Given the description of an element on the screen output the (x, y) to click on. 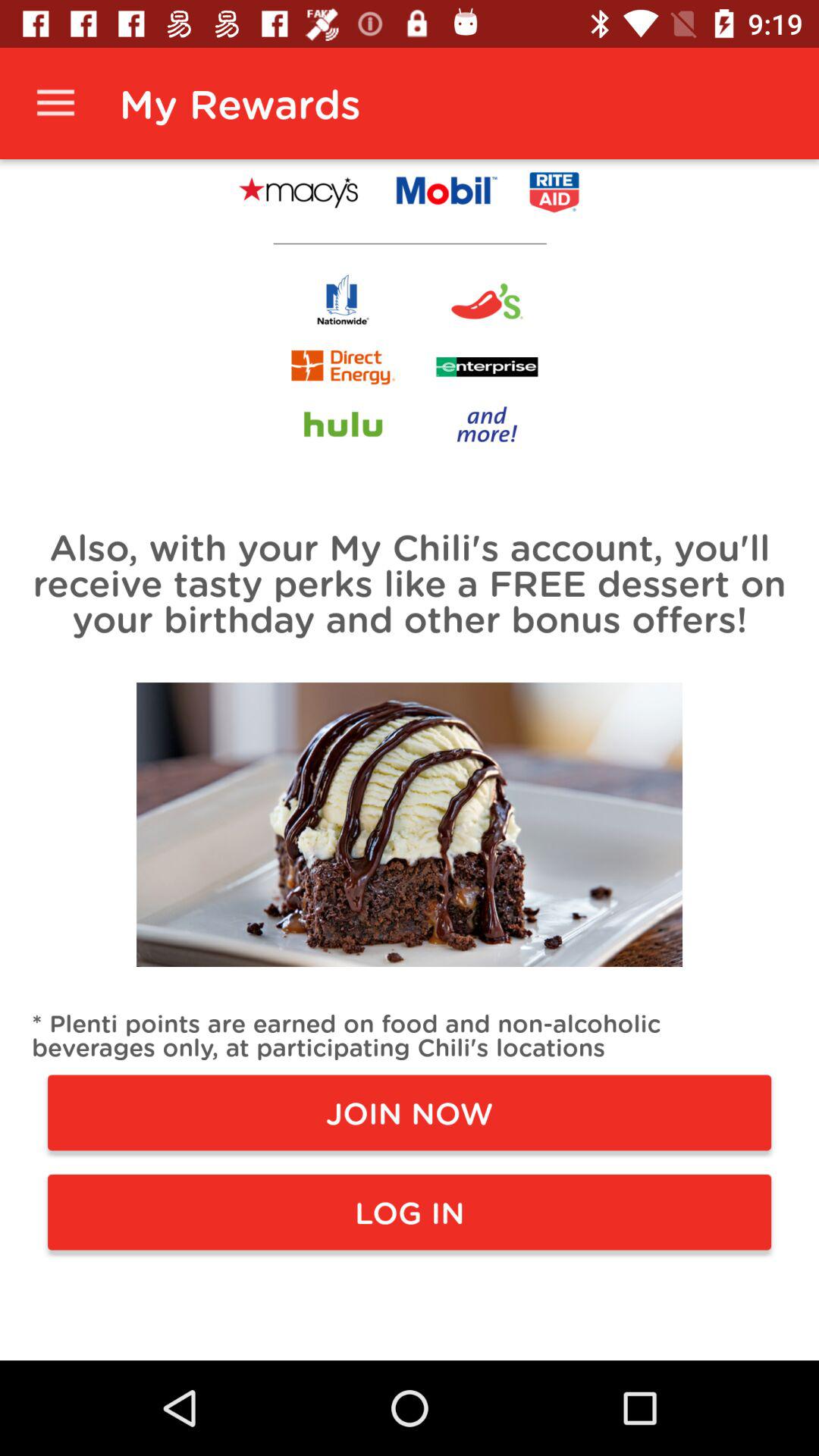
turn off the join now icon (409, 1112)
